Given the description of an element on the screen output the (x, y) to click on. 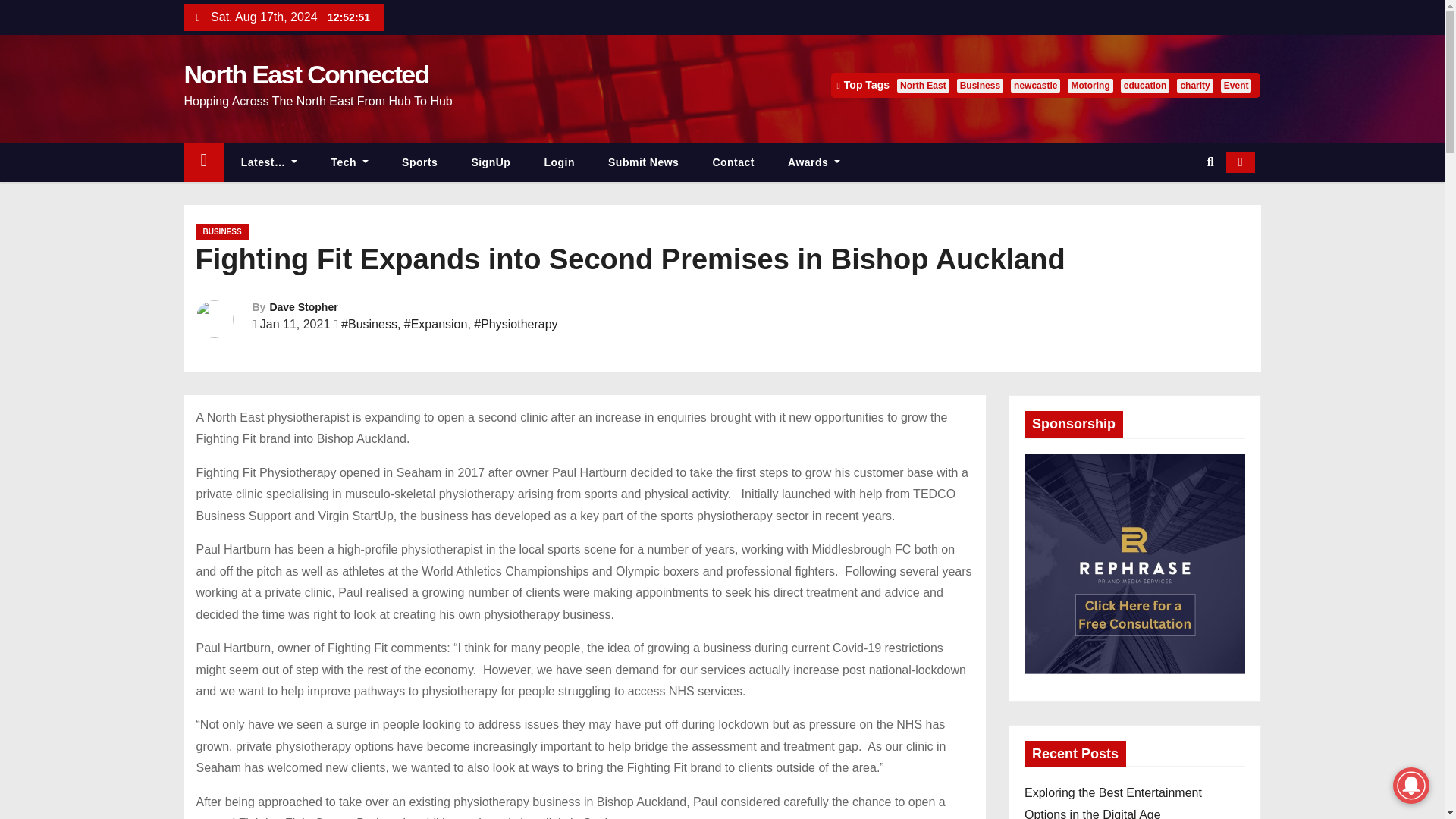
SignUp (490, 162)
Tech (349, 162)
Dave Stopher (303, 306)
Contact (733, 162)
Tech (349, 162)
Login (559, 162)
Motoring (1089, 85)
BUSINESS (221, 231)
Awards (814, 162)
Submit News (643, 162)
